Given the description of an element on the screen output the (x, y) to click on. 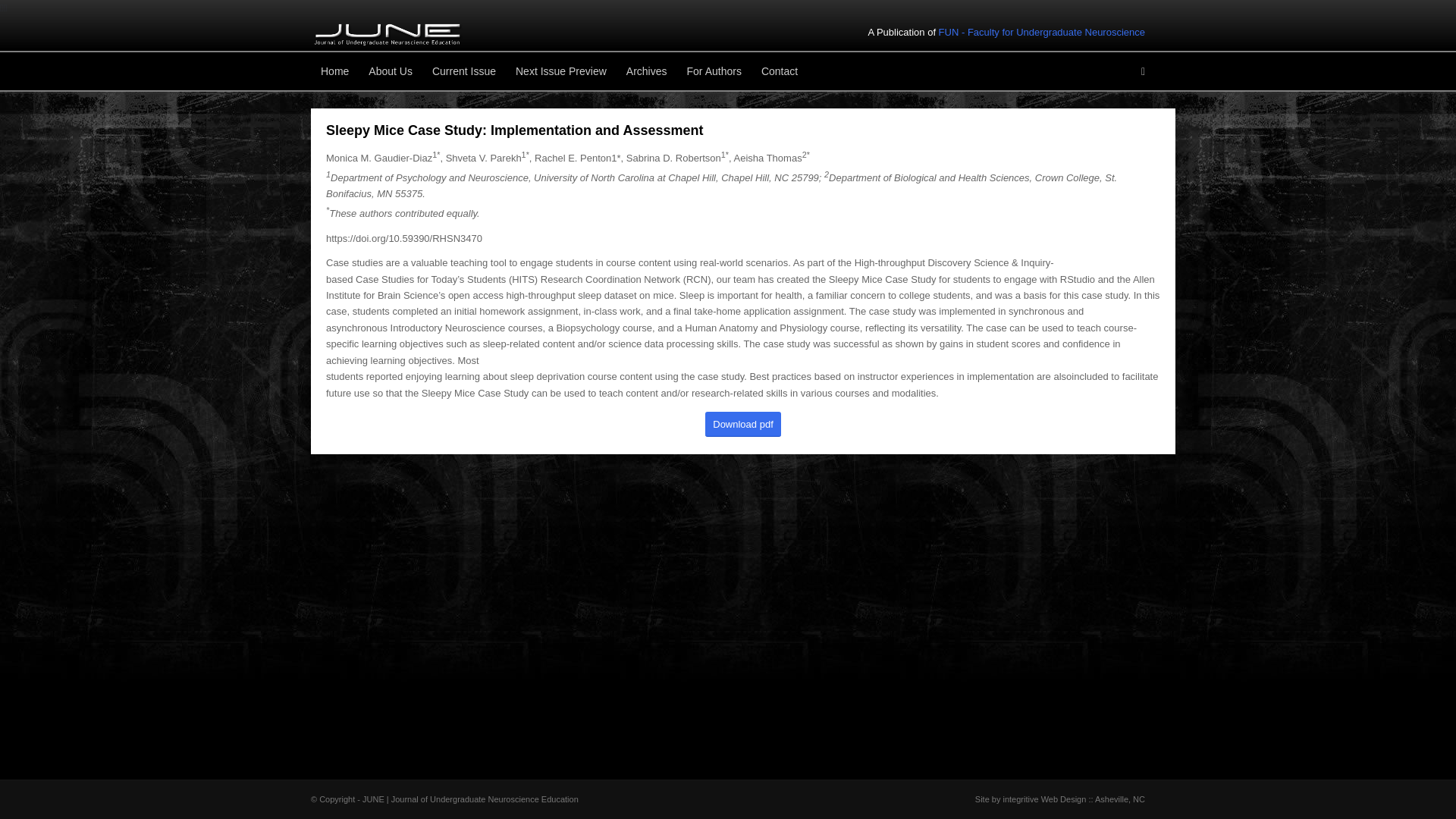
Archives (646, 71)
Home (334, 71)
Current Issue (463, 71)
Next Issue Preview (560, 71)
About Us (390, 71)
FUN - Faculty for Undergraduate Neuroscience (1041, 31)
